Given the description of an element on the screen output the (x, y) to click on. 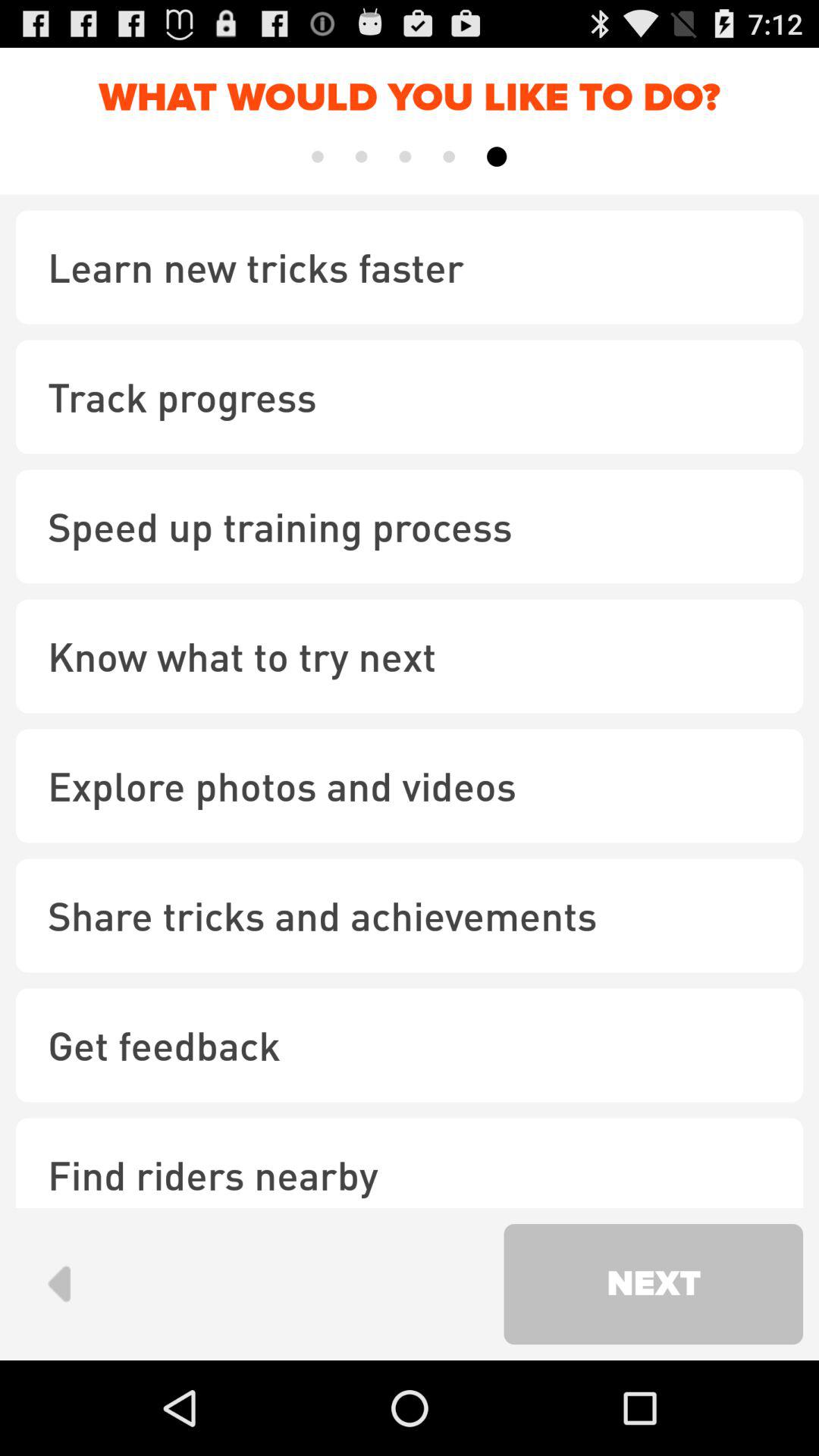
choose the checkbox above the get feedback checkbox (409, 915)
